Given the description of an element on the screen output the (x, y) to click on. 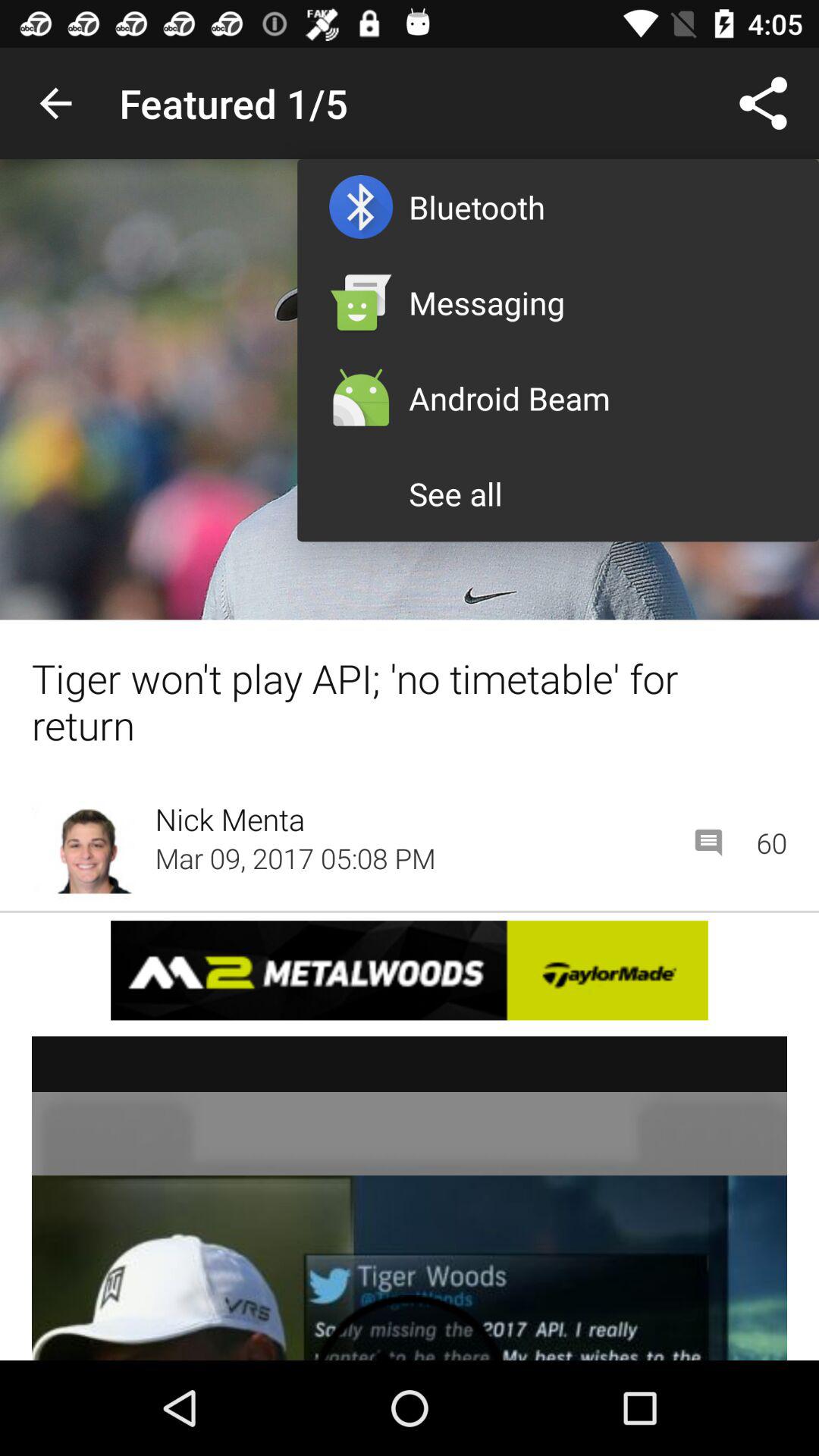
add the option (409, 1198)
